Given the description of an element on the screen output the (x, y) to click on. 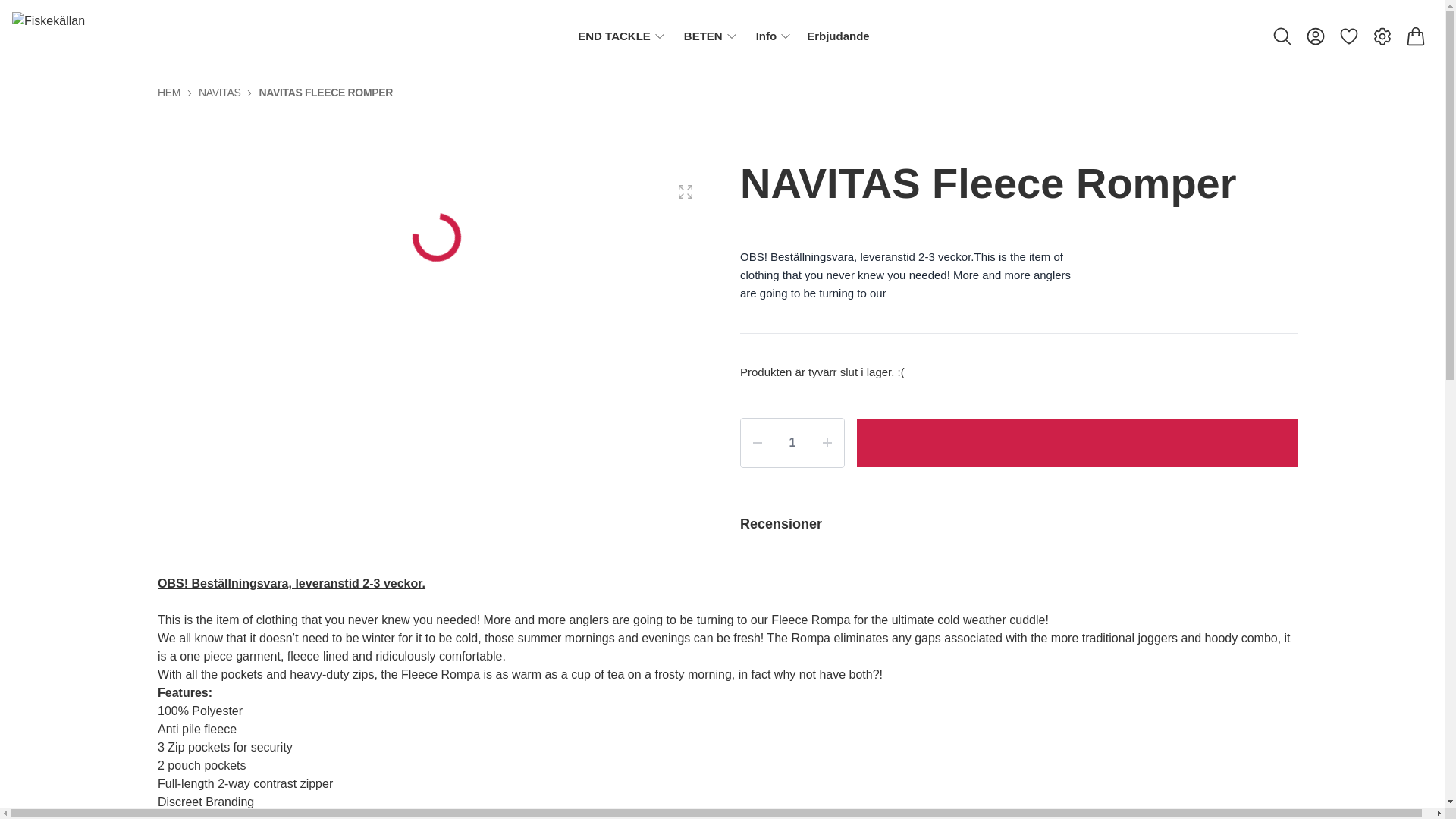
Erbjudande (837, 35)
Erbjudande (837, 35)
NAVITAS (219, 92)
BETEN (703, 35)
Recensioner (1018, 523)
Info (766, 35)
END TACKLE (614, 35)
HEM (168, 92)
